Given the description of an element on the screen output the (x, y) to click on. 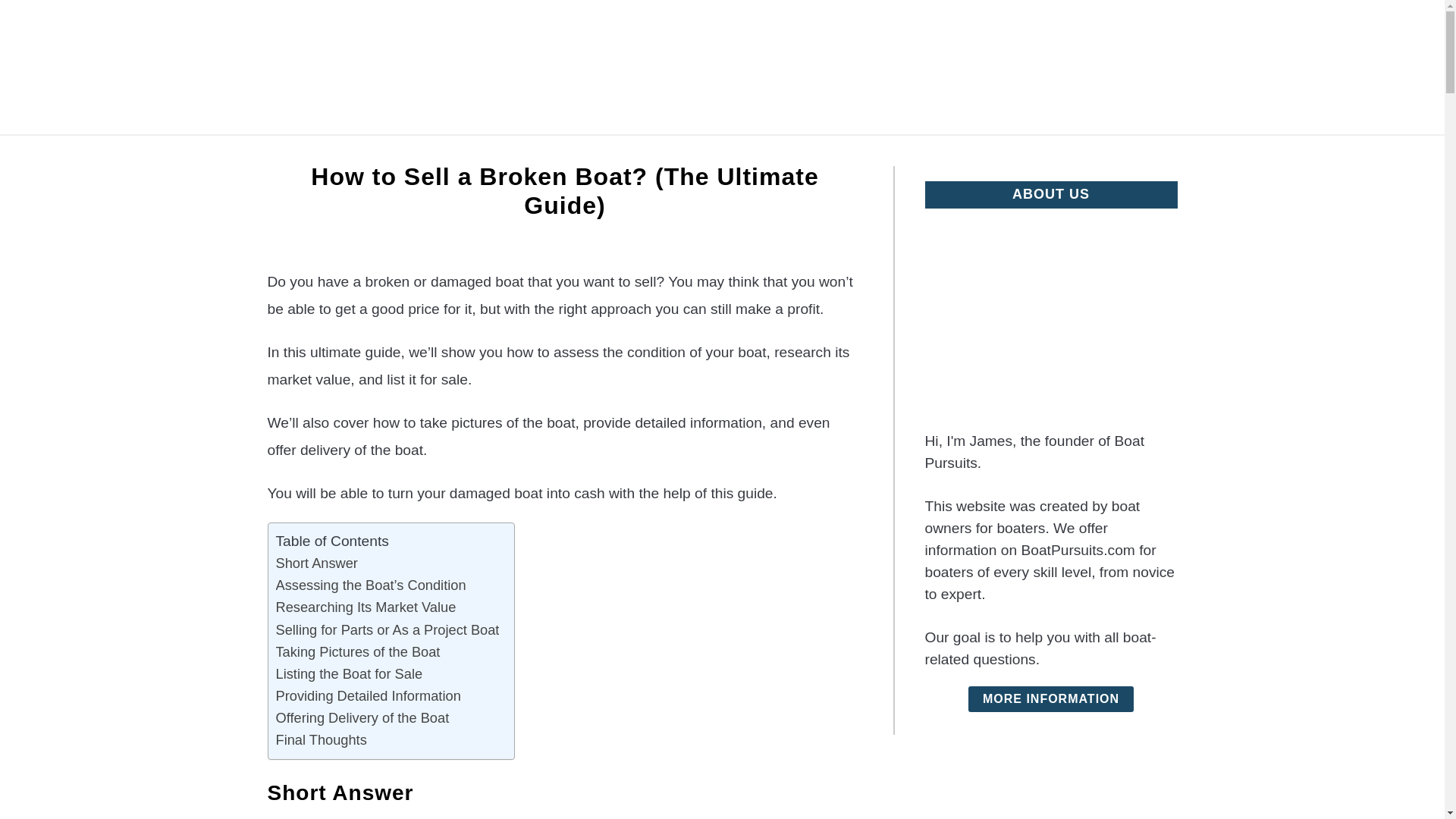
BOAT GUIDES (847, 152)
Taking Pictures of the Boat (358, 651)
Providing Detailed Information (368, 695)
Short Answer (317, 563)
Providing Detailed Information (368, 695)
PONTOON BOATS (608, 152)
MORE INFORMATION (1051, 698)
Listing the Boat for Sale (349, 673)
BASS BOATS (966, 152)
Final Thoughts (321, 739)
